Given the description of an element on the screen output the (x, y) to click on. 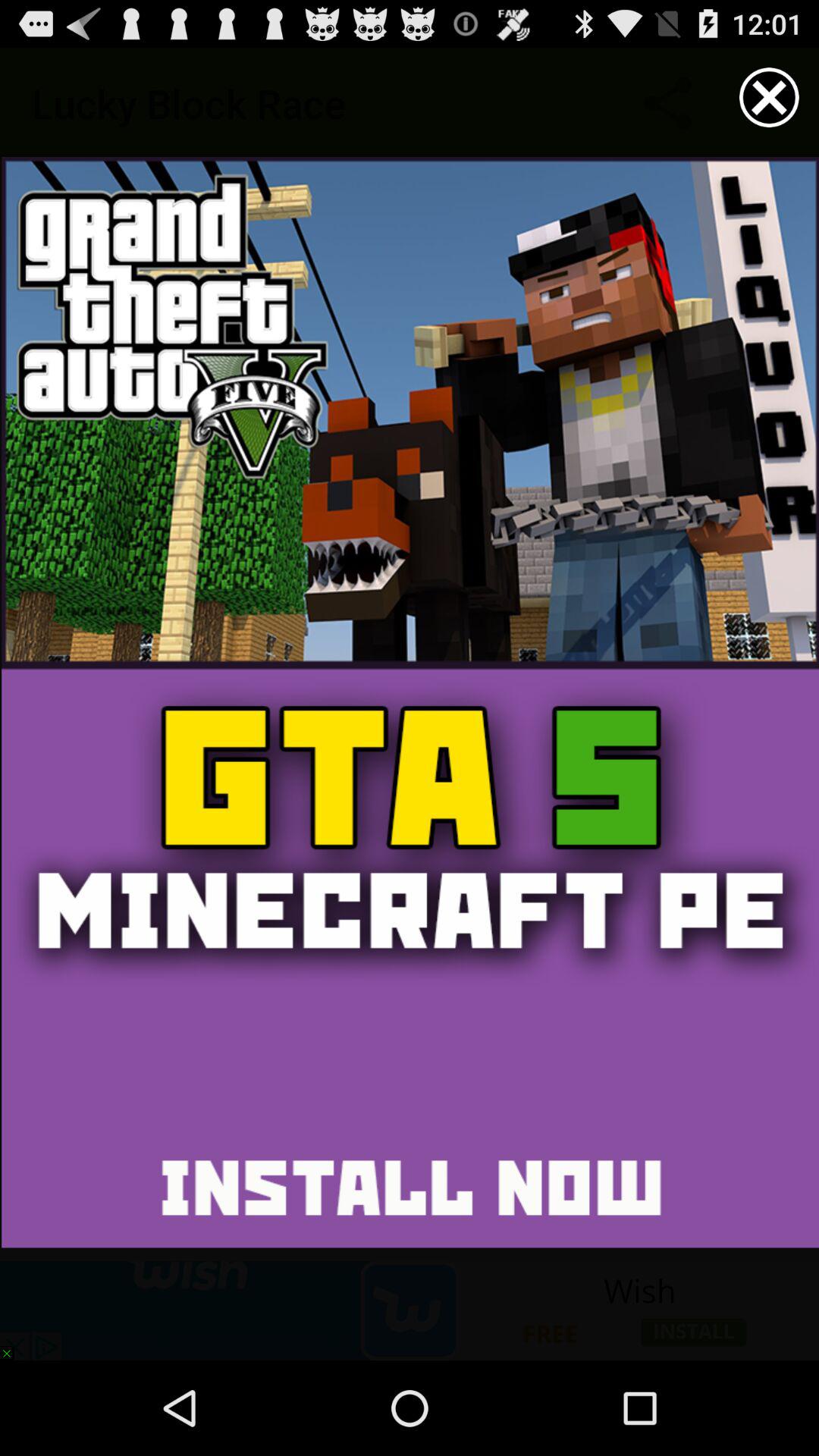
close the option (769, 97)
